Given the description of an element on the screen output the (x, y) to click on. 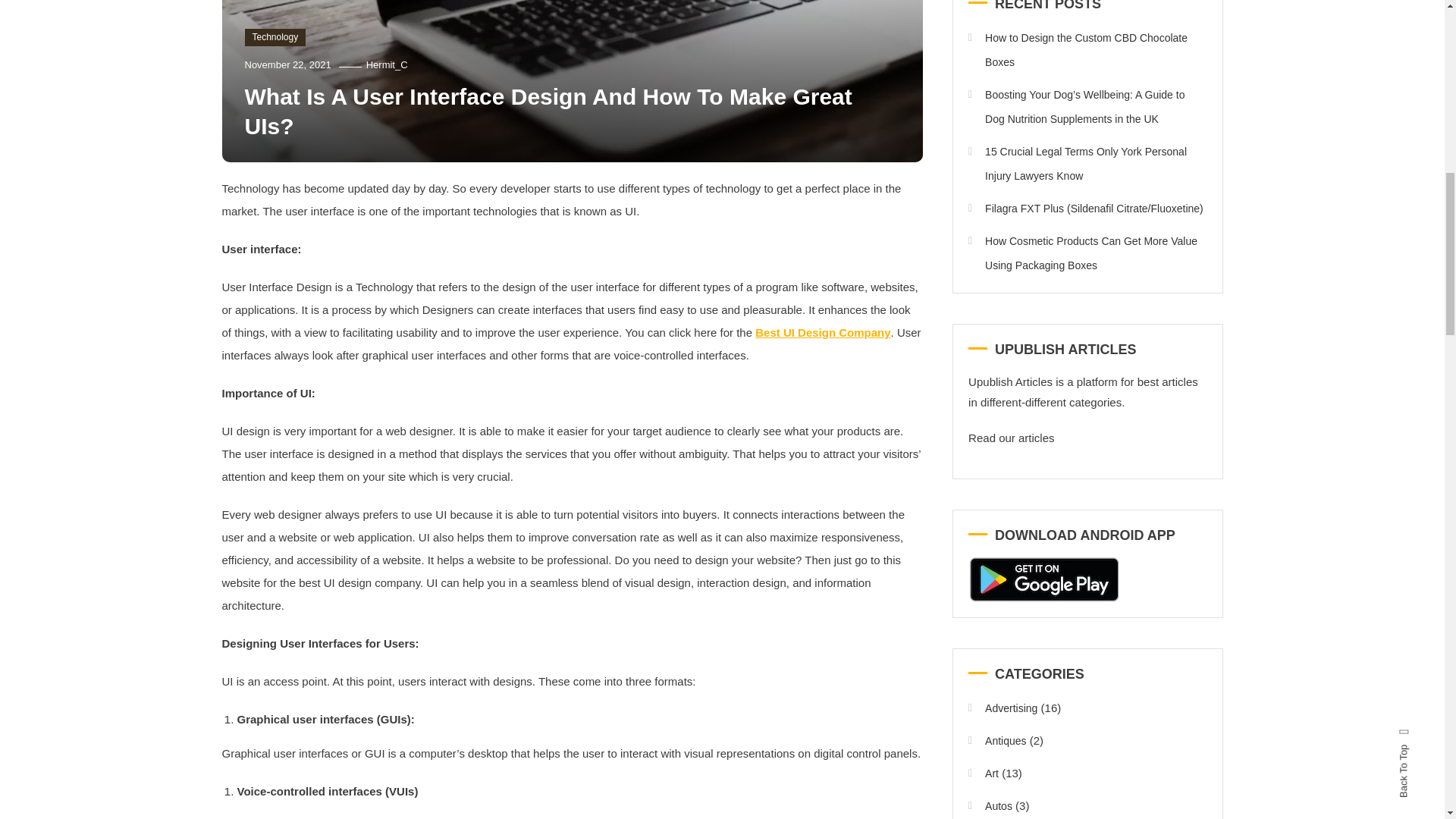
What Is A User Interface Design And How To Make Great UIs? (547, 111)
Technology (274, 37)
November 22, 2021 (287, 64)
Best UI Design Company (822, 332)
